Given the description of an element on the screen output the (x, y) to click on. 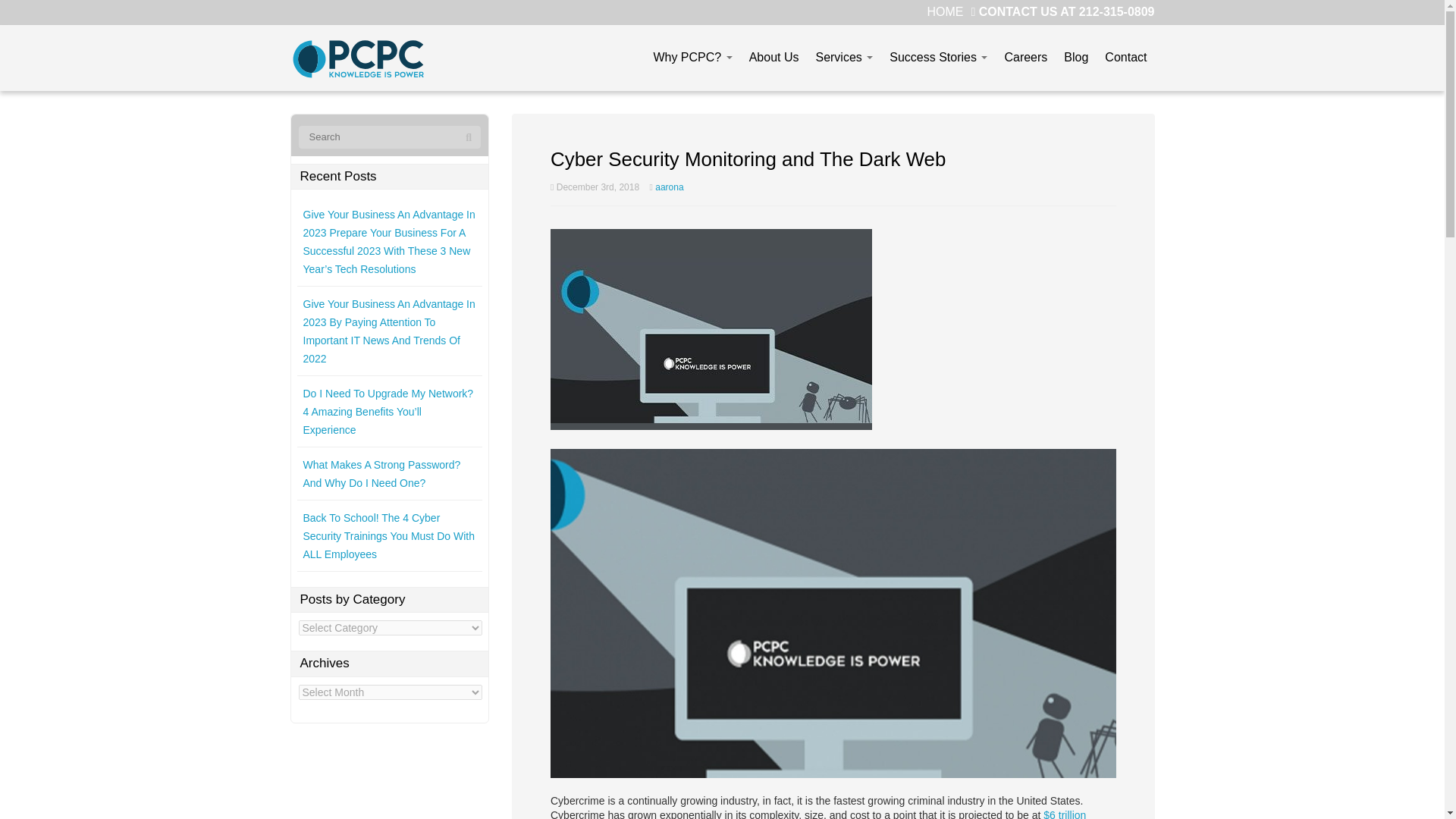
Why PCPC? (692, 57)
About Us (773, 57)
Posts by aarona (668, 186)
Services (844, 57)
aarona (668, 186)
What Makes A Strong Password? And Why Do I Need One? (381, 473)
Careers (1024, 57)
Blog (1076, 57)
